Given the description of an element on the screen output the (x, y) to click on. 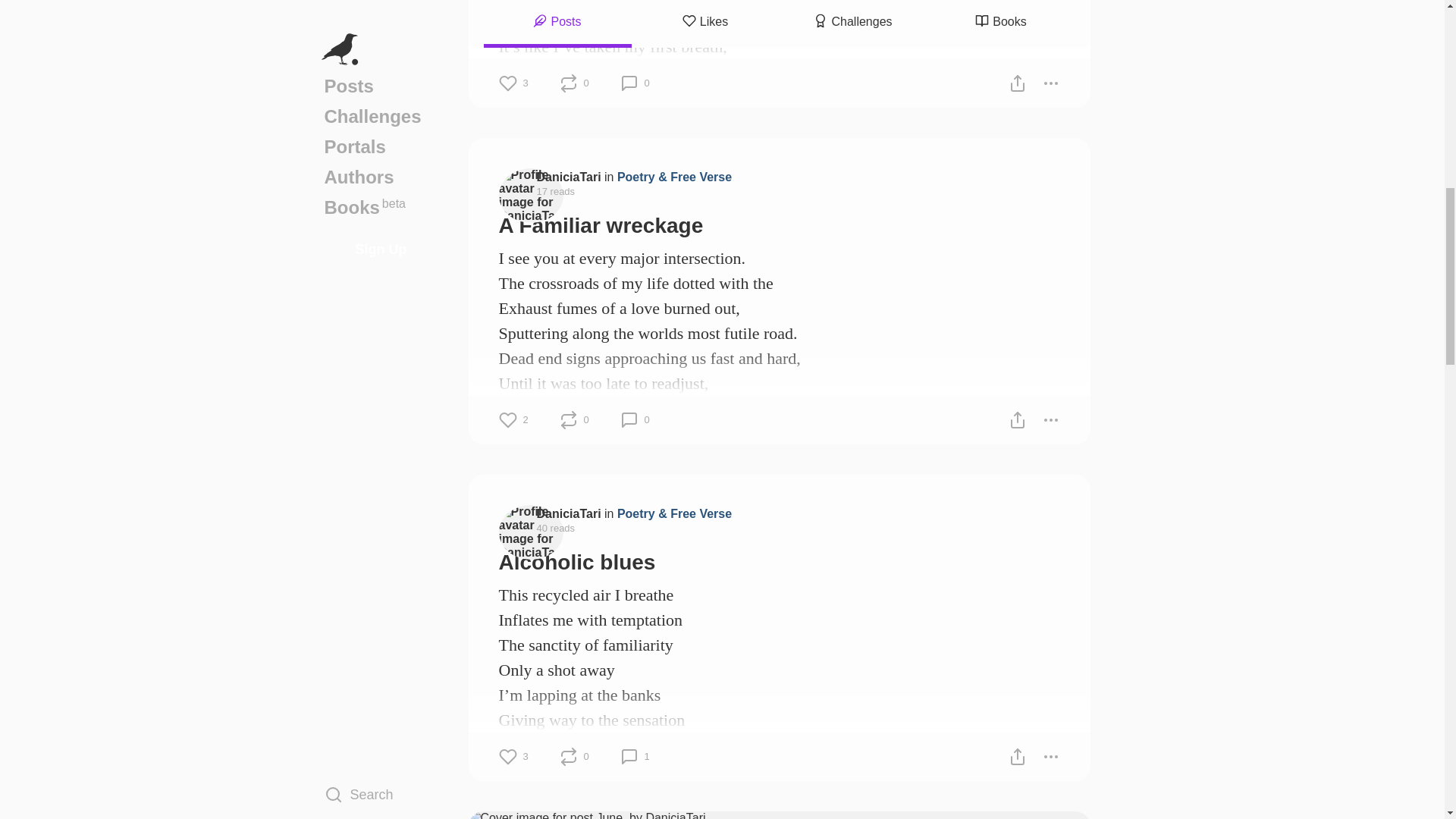
DaniciaTari (569, 175)
DaniciaTari (569, 512)
